Given the description of an element on the screen output the (x, y) to click on. 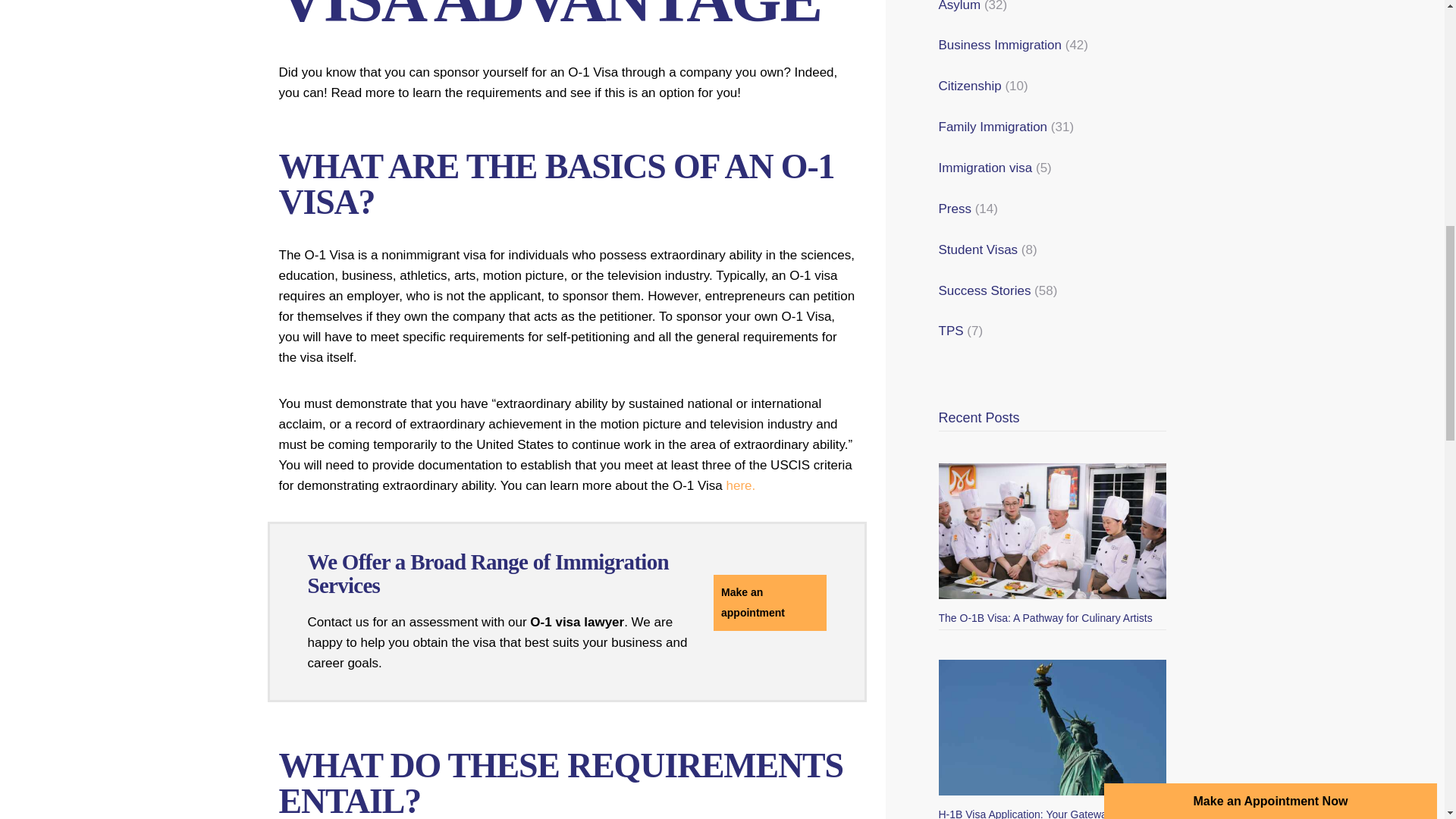
H-1B Visa Application: Your Gateway to U.S. Employment (1052, 727)
The O-1B Visa: A Pathway for Culinary Artists (1052, 530)
